Given the description of an element on the screen output the (x, y) to click on. 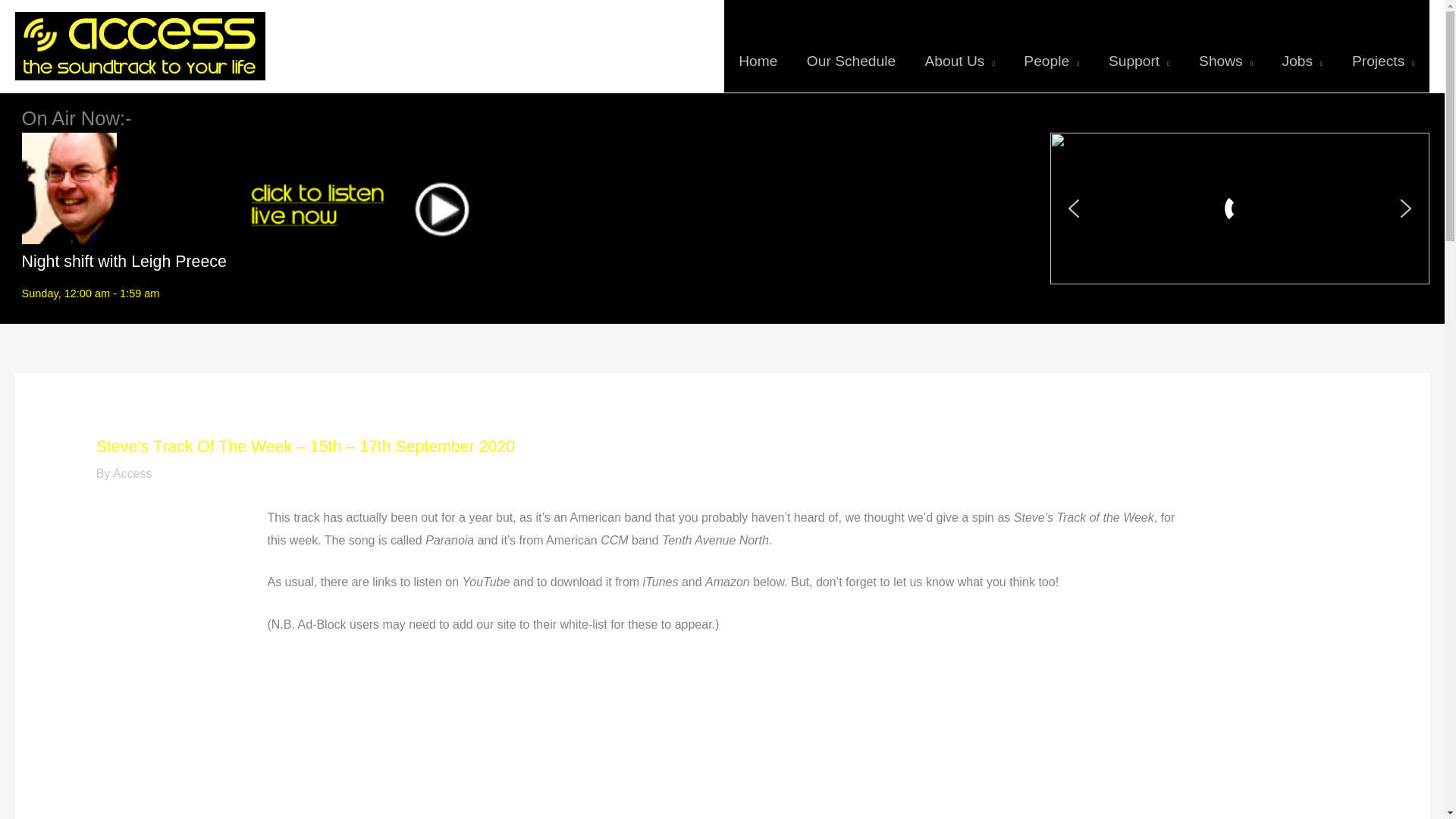
Projects (1383, 46)
About Us (959, 46)
Night shift with Leigh Preece (124, 261)
View all posts by Access (132, 472)
Our Schedule (851, 46)
People (1051, 46)
Support (1139, 46)
Silicon valley (722, 737)
Shows (1225, 46)
